Given the description of an element on the screen output the (x, y) to click on. 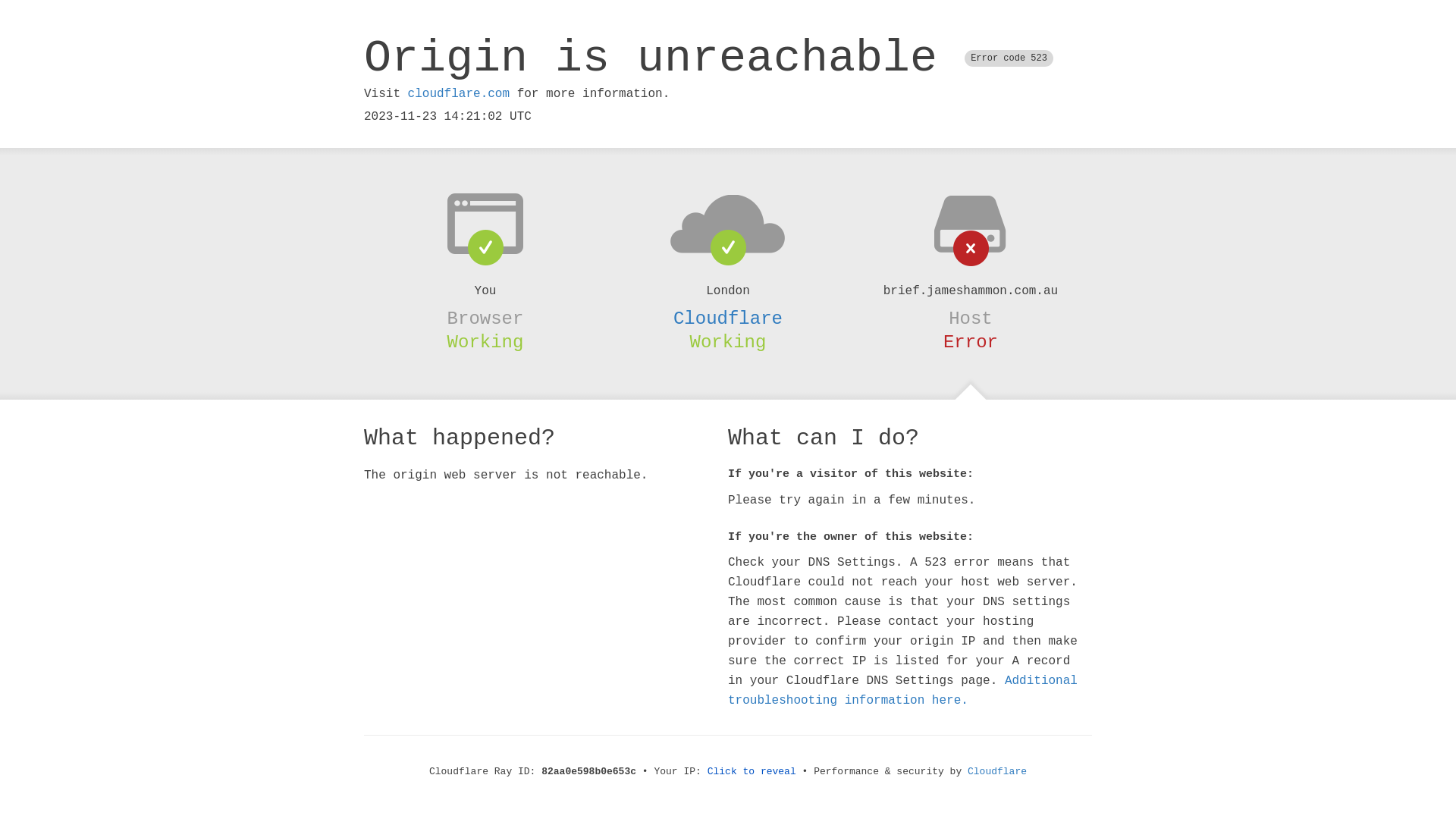
Cloudflare Element type: text (996, 771)
cloudflare.com Element type: text (458, 93)
Click to reveal Element type: text (751, 771)
Cloudflare Element type: text (727, 318)
Additional troubleshooting information here. Element type: text (902, 690)
